Given the description of an element on the screen output the (x, y) to click on. 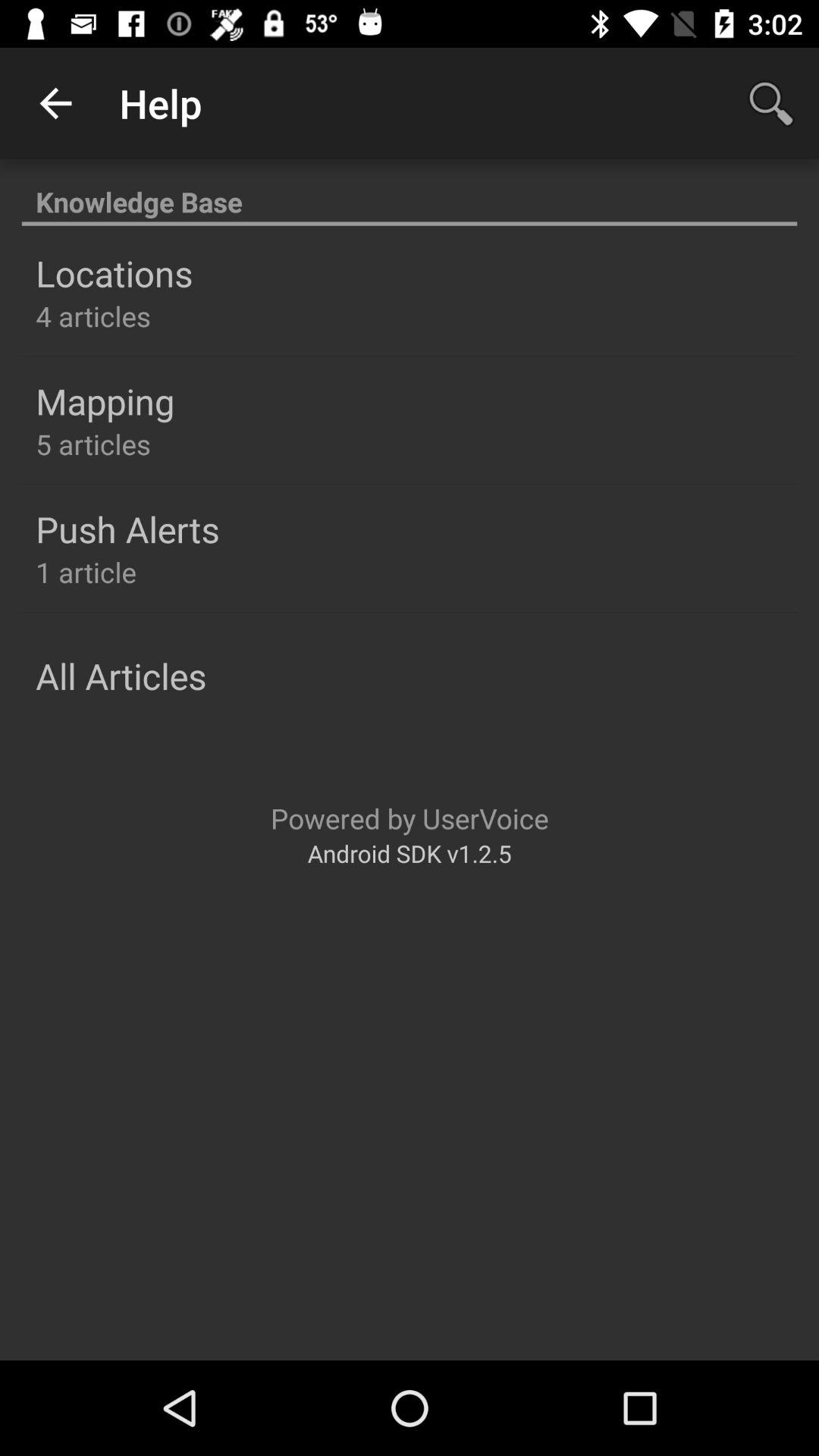
choose 1 article icon (85, 571)
